Given the description of an element on the screen output the (x, y) to click on. 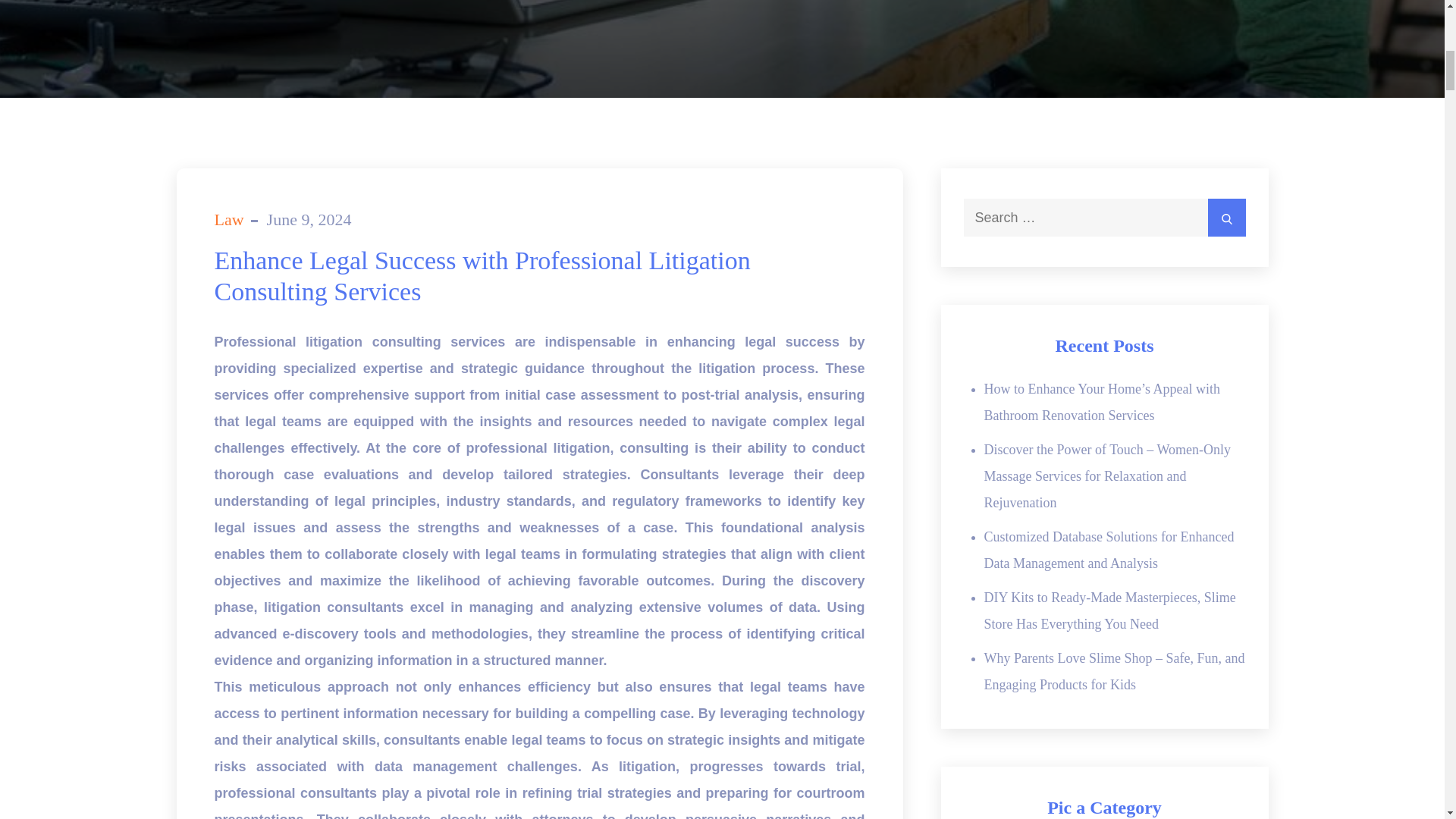
June 9, 2024 (309, 219)
Law (228, 219)
